Given the description of an element on the screen output the (x, y) to click on. 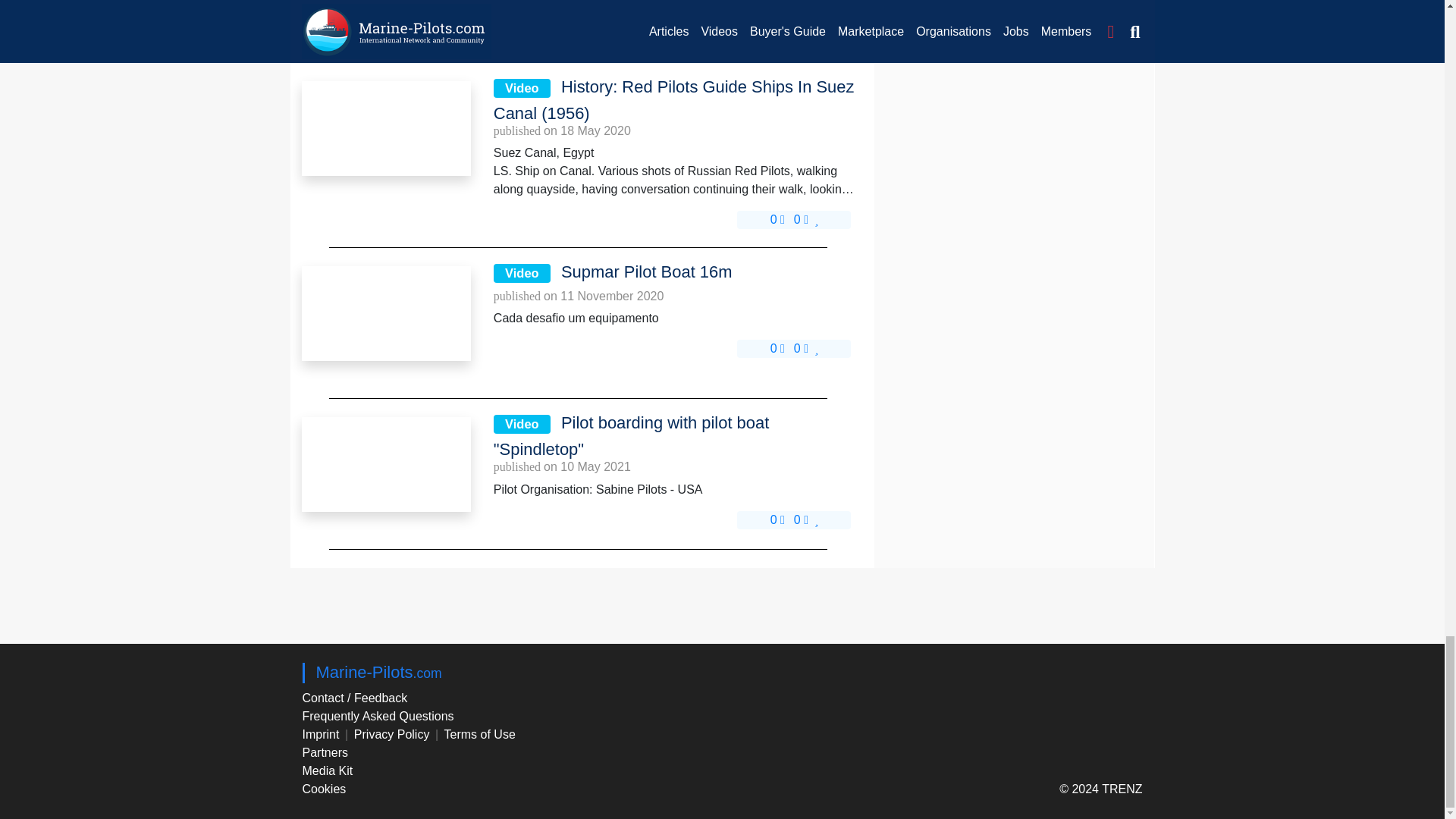
Supmar Pilot Boat 16m (385, 313)
Pilot boarding with pilot boat  (385, 463)
